Given the description of an element on the screen output the (x, y) to click on. 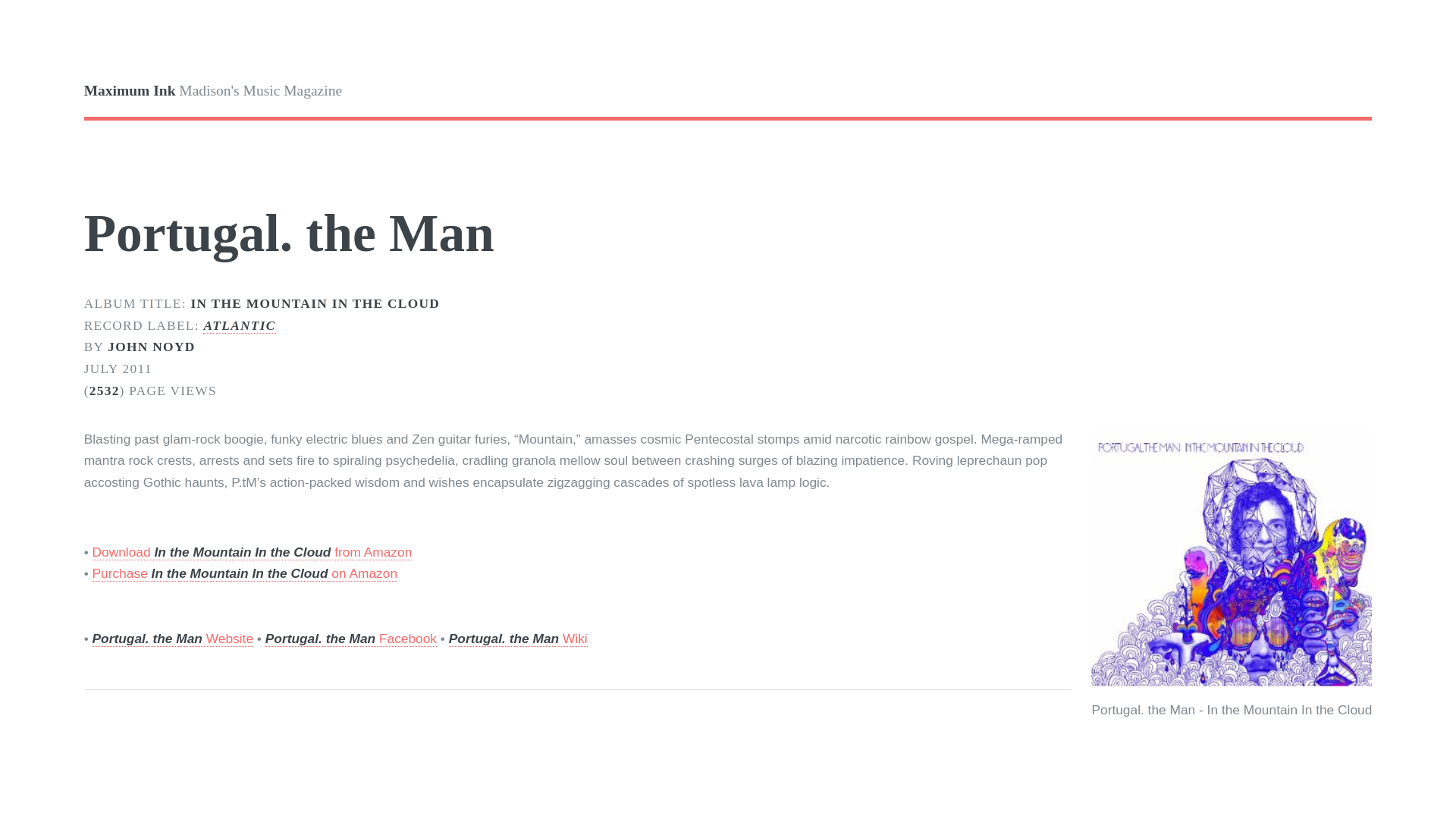
ATLANTIC (239, 325)
Portugal. the Man Website (173, 638)
Download In the Mountain In the Cloud from Amazon (252, 552)
Portugal. the Man Wiki (518, 638)
Purchase In the Mountain In the Cloud on Amazon (245, 573)
Portugal. the Man Facebook (350, 638)
Portugal. the Man - In the Mountain In the Cloud (1230, 558)
Maximum Ink Madison's Music Magazine (406, 90)
